Given the description of an element on the screen output the (x, y) to click on. 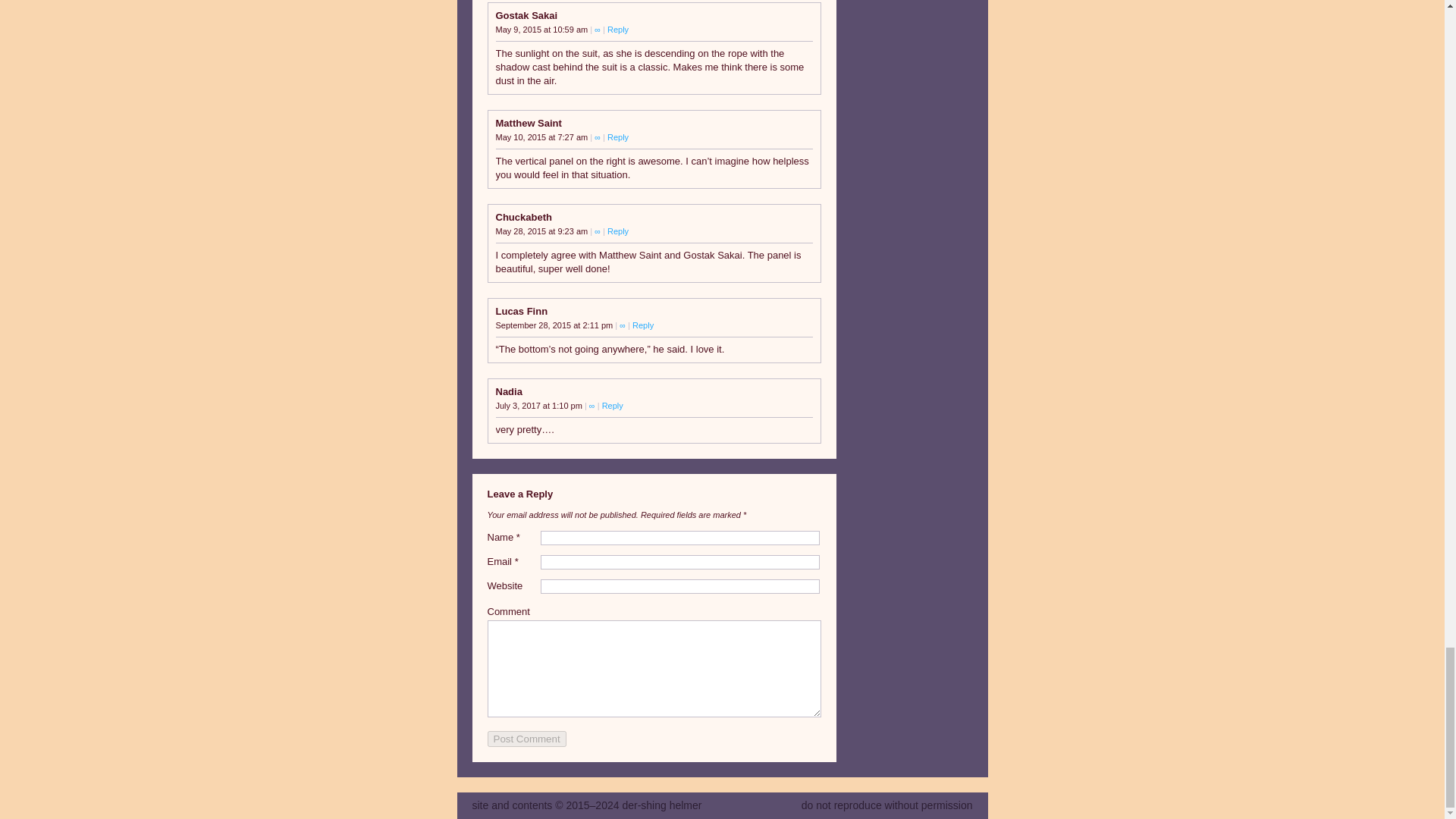
Post Comment (526, 738)
